Given the description of an element on the screen output the (x, y) to click on. 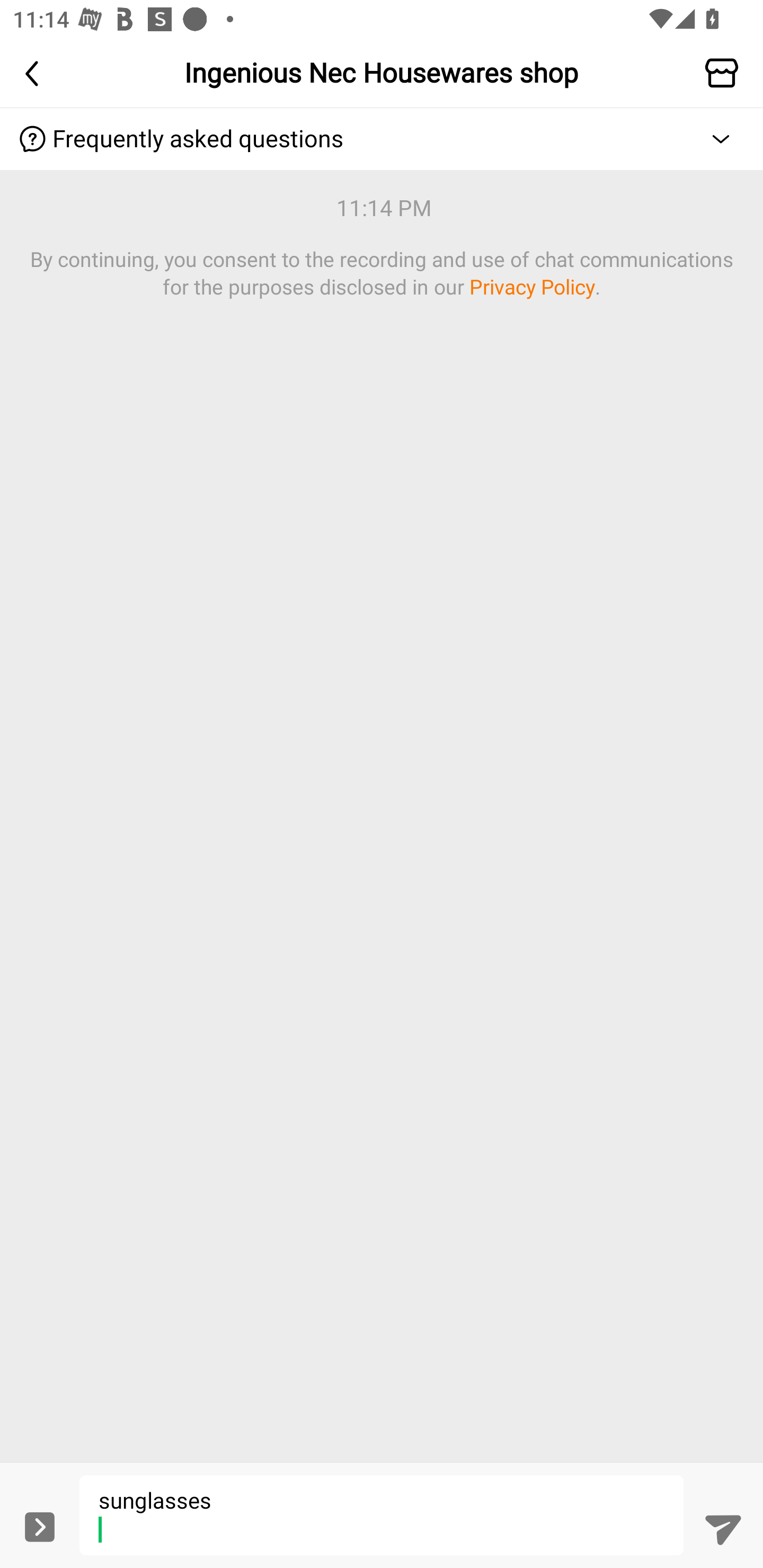
 back (36, 72)
 enter the merchant store (726, 72)
Pull down button  Frequently asked questions (381, 138)
sunglasses
 (381, 1515)
 Expand more functions button (39, 1526)
 Send (722, 1527)
